Given the description of an element on the screen output the (x, y) to click on. 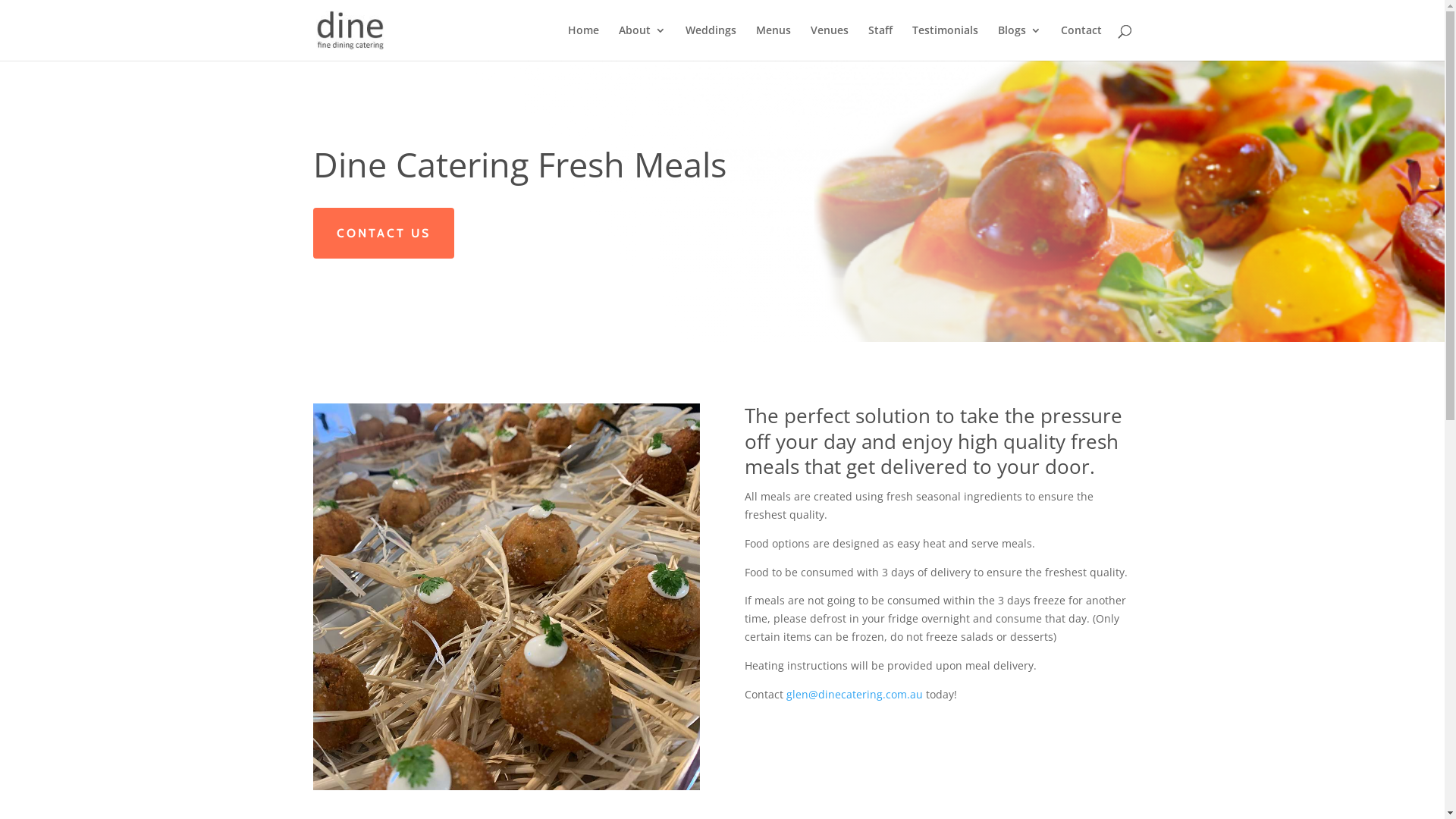
Home Element type: text (582, 42)
About Element type: text (641, 42)
CONTACT US Element type: text (382, 232)
Contact Element type: text (1080, 42)
Testimonials Element type: text (944, 42)
Staff Element type: text (879, 42)
Menus Element type: text (772, 42)
Blogs Element type: text (1019, 42)
glen@dinecatering.com.au Element type: text (854, 694)
Venues Element type: text (828, 42)
Weddings Element type: text (710, 42)
